Given the description of an element on the screen output the (x, y) to click on. 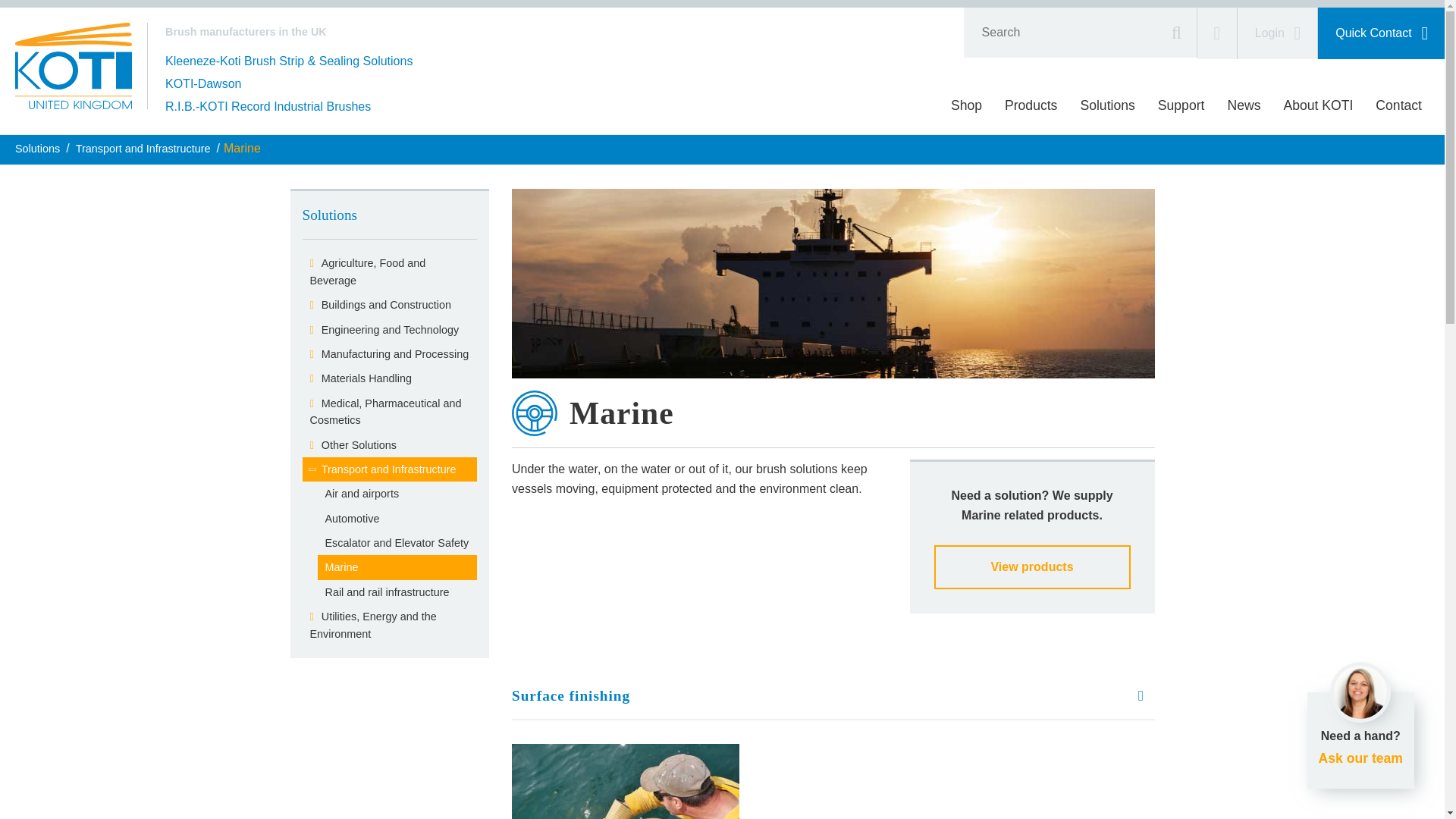
Transport and Infrastructure (142, 148)
Support (1181, 105)
KOTI-Dawson (202, 83)
Solutions (1106, 105)
News (1243, 105)
Login (1277, 32)
About KOTI (1317, 105)
Surface finishing (833, 696)
Shop (965, 105)
Products (1030, 105)
